Given the description of an element on the screen output the (x, y) to click on. 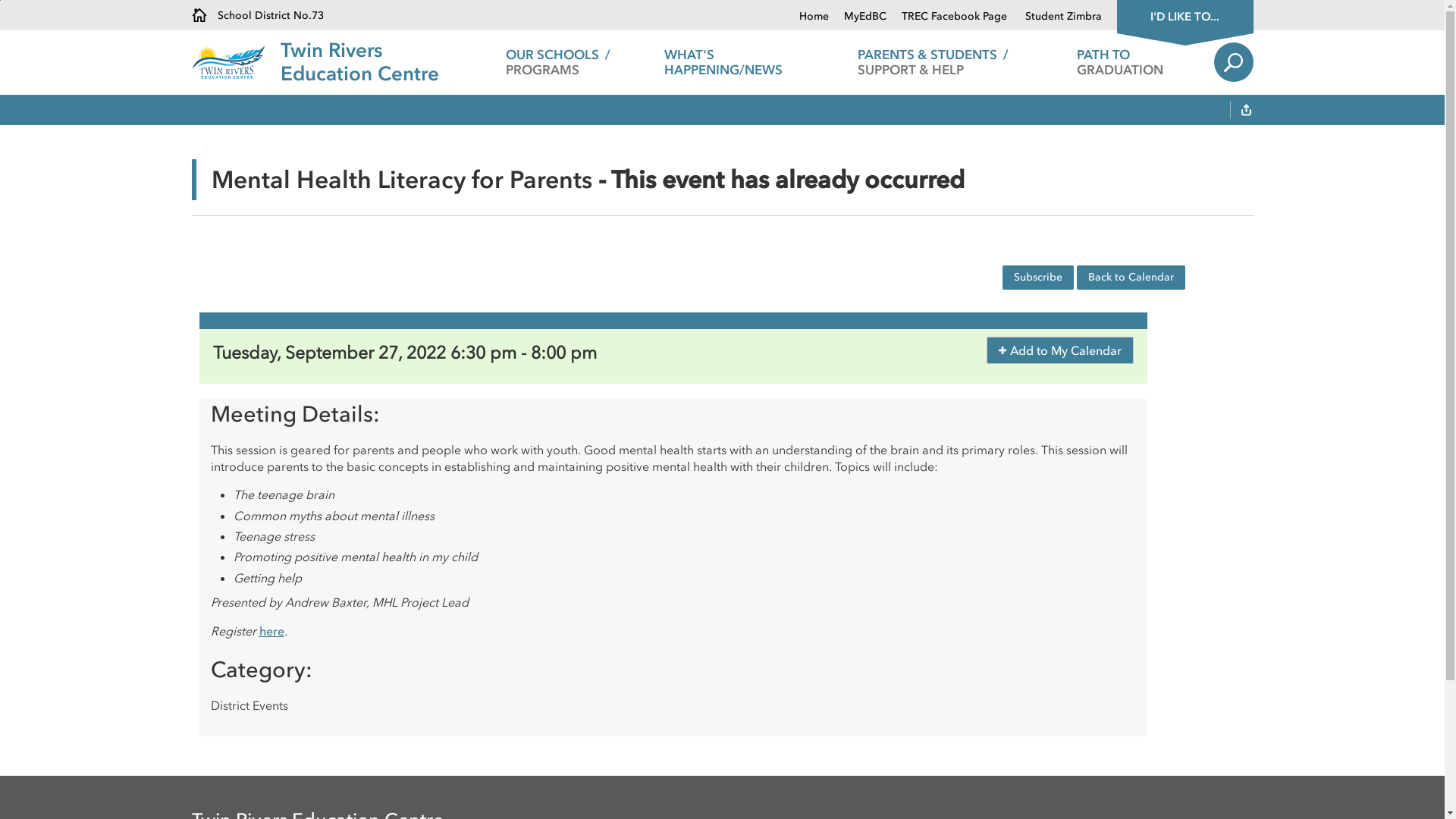
Icon - Add to My Calendar
 Add to My Calendar Element type: text (1058, 350)
TREC Facebook Page Element type: text (947, 15)
I'D LIKE TO... Element type: text (1184, 15)
WHAT'S HAPPENING/NEWS Element type: text (745, 62)
Icon - Add to My Calendar Element type: hover (1001, 349)
MyEdBC Element type: text (856, 15)
Twin Rivers
Education Centre Element type: text (359, 62)
PARENTS & STUDENTS
SUPPORT & HELP Element type: text (932, 62)
Click to return to the homepage Element type: hover (235, 62)
Search Element type: text (1232, 61)
Subscribe Element type: text (1037, 277)
  Element type: text (1245, 111)
Skip to Content Element type: text (0, 0)
Home Element type: text (813, 15)
OUR SCHOOLS
PROGRAMS Element type: text (557, 62)
School District No.73 Element type: text (257, 15)
Student Zimbra Element type: text (1055, 15)
Back to Calendar Element type: text (1130, 277)
PATH TO
GRADUATION Element type: text (1120, 62)
here Element type: text (271, 630)
